Given the description of an element on the screen output the (x, y) to click on. 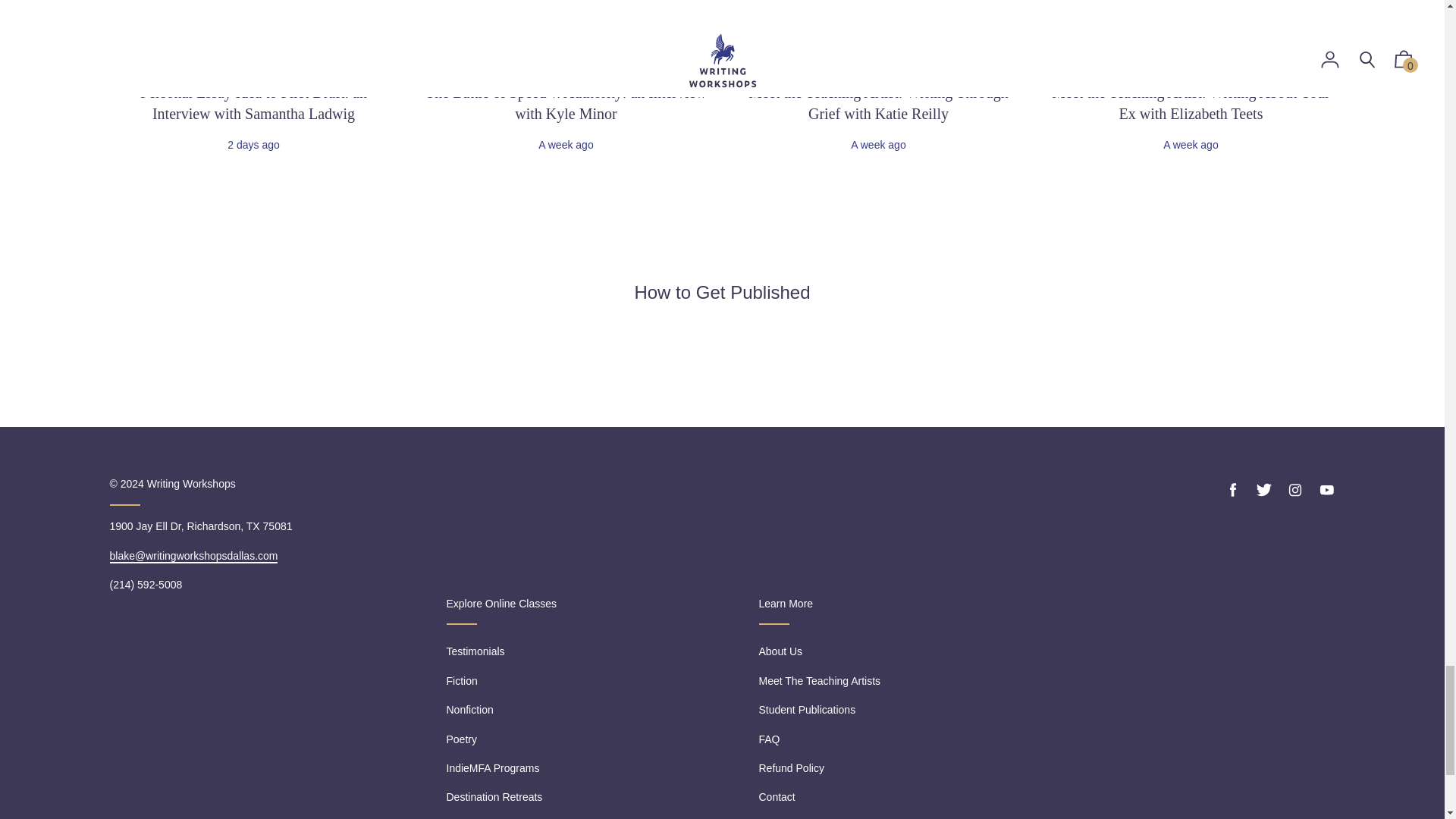
Writing Workshops on Facebook (1232, 489)
Writing Workshops on Instagram (1295, 489)
Writing Workshops on Twitter (1263, 489)
